Given the description of an element on the screen output the (x, y) to click on. 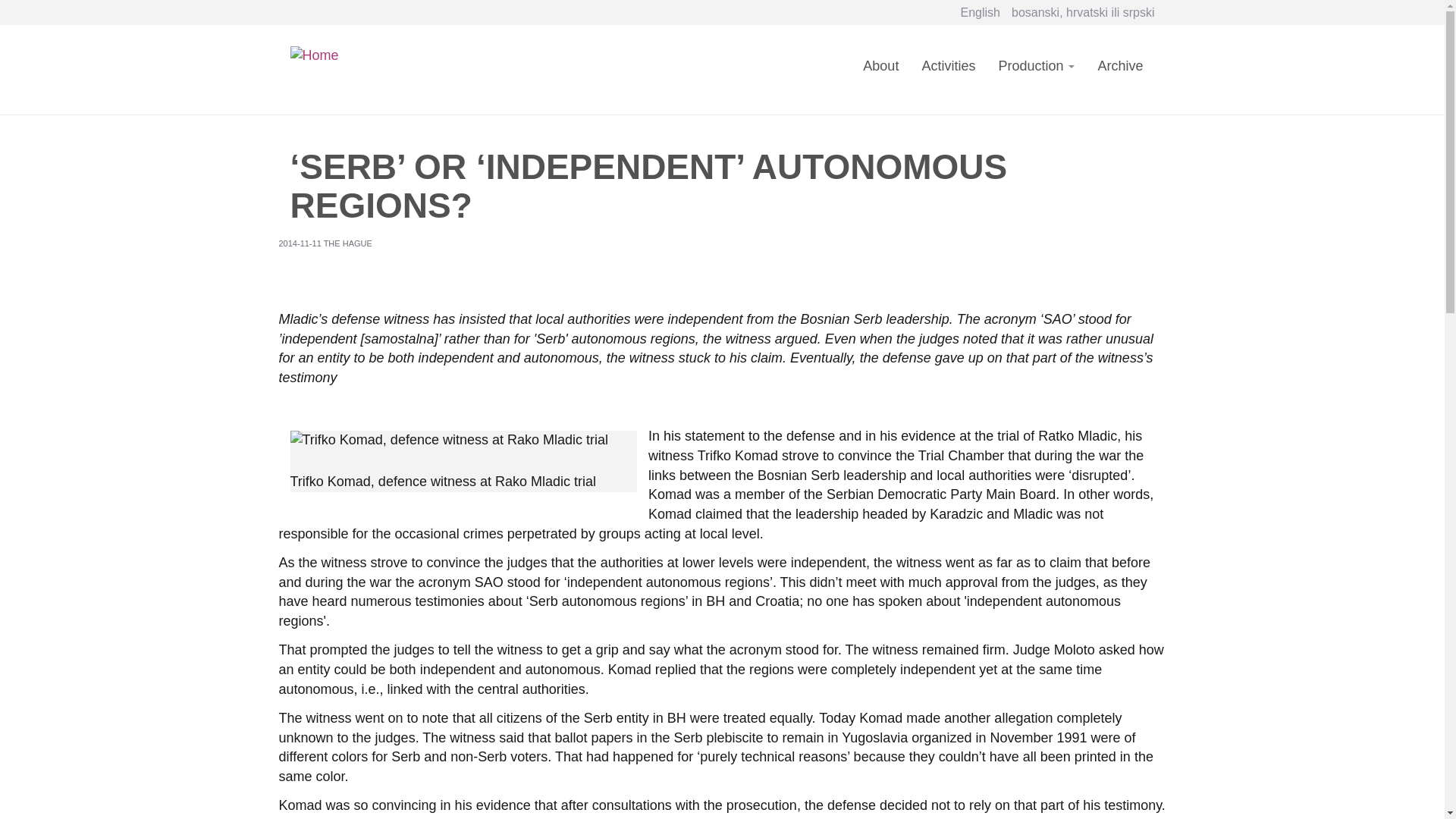
Archive (1120, 75)
Home (319, 53)
Production (1036, 75)
bosanski, hrvatski ili srpski (1082, 11)
Trifko Komad, defence witness at Rako Mladic trial (463, 440)
English (980, 11)
About (880, 75)
Activities (948, 75)
About the SENSE Center (880, 75)
